Given the description of an element on the screen output the (x, y) to click on. 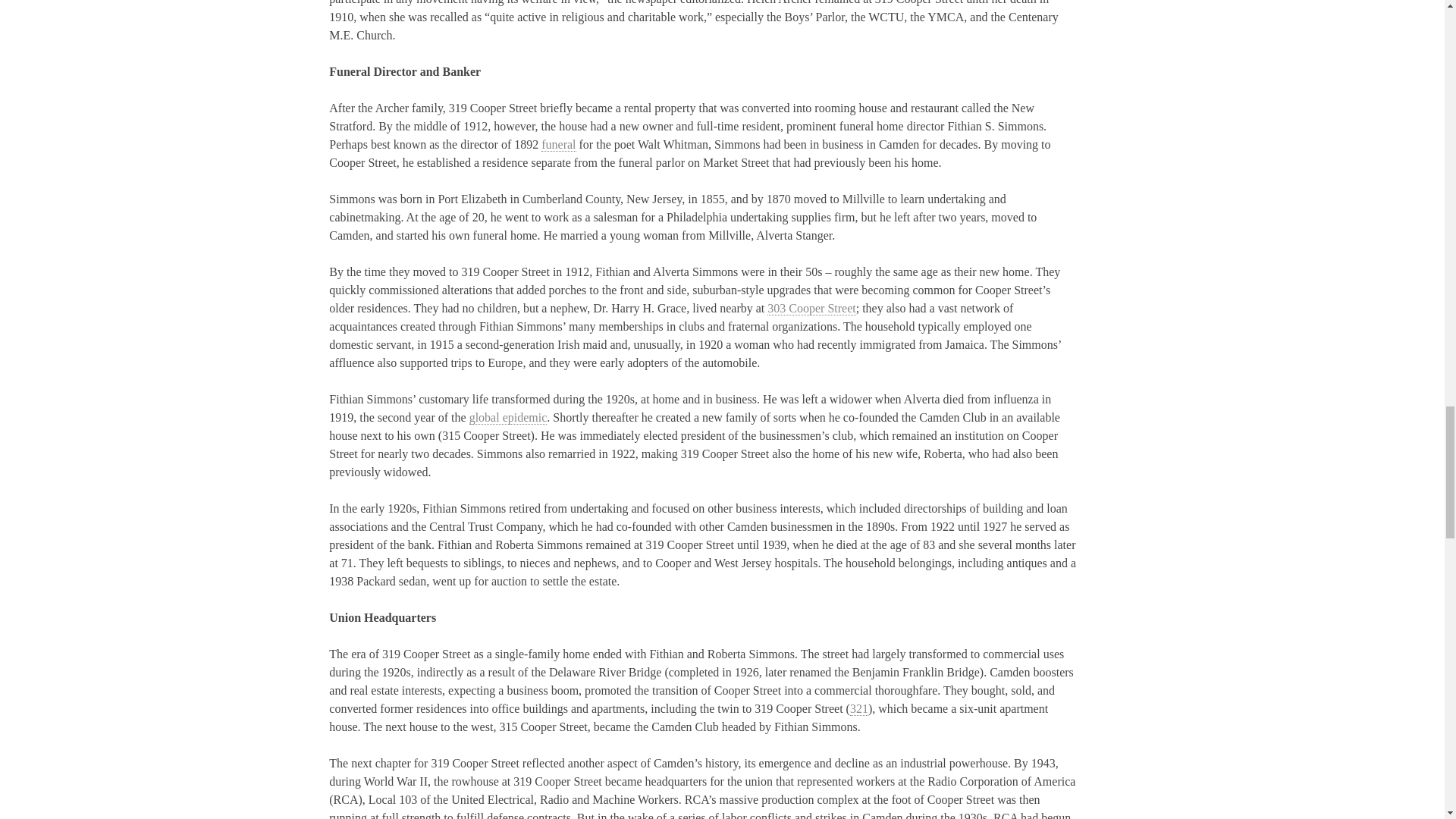
global epidemic (507, 418)
funeral (558, 144)
303 Cooper Street (811, 308)
321 (858, 708)
